Given the description of an element on the screen output the (x, y) to click on. 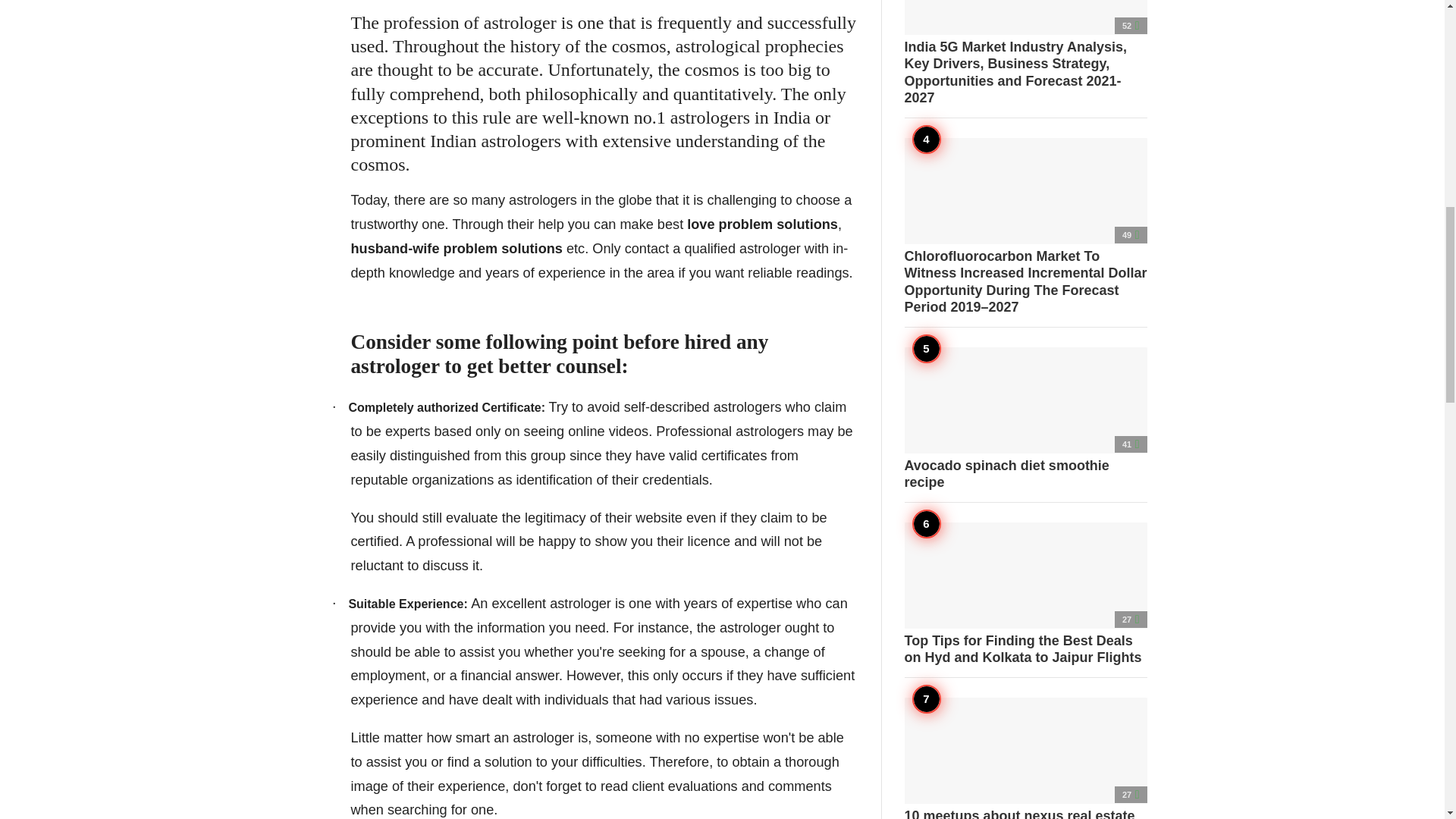
Avocado spinach diet smoothie recipe (1025, 419)
10 meetups about nexus real estate you should attend (1025, 758)
